Given the description of an element on the screen output the (x, y) to click on. 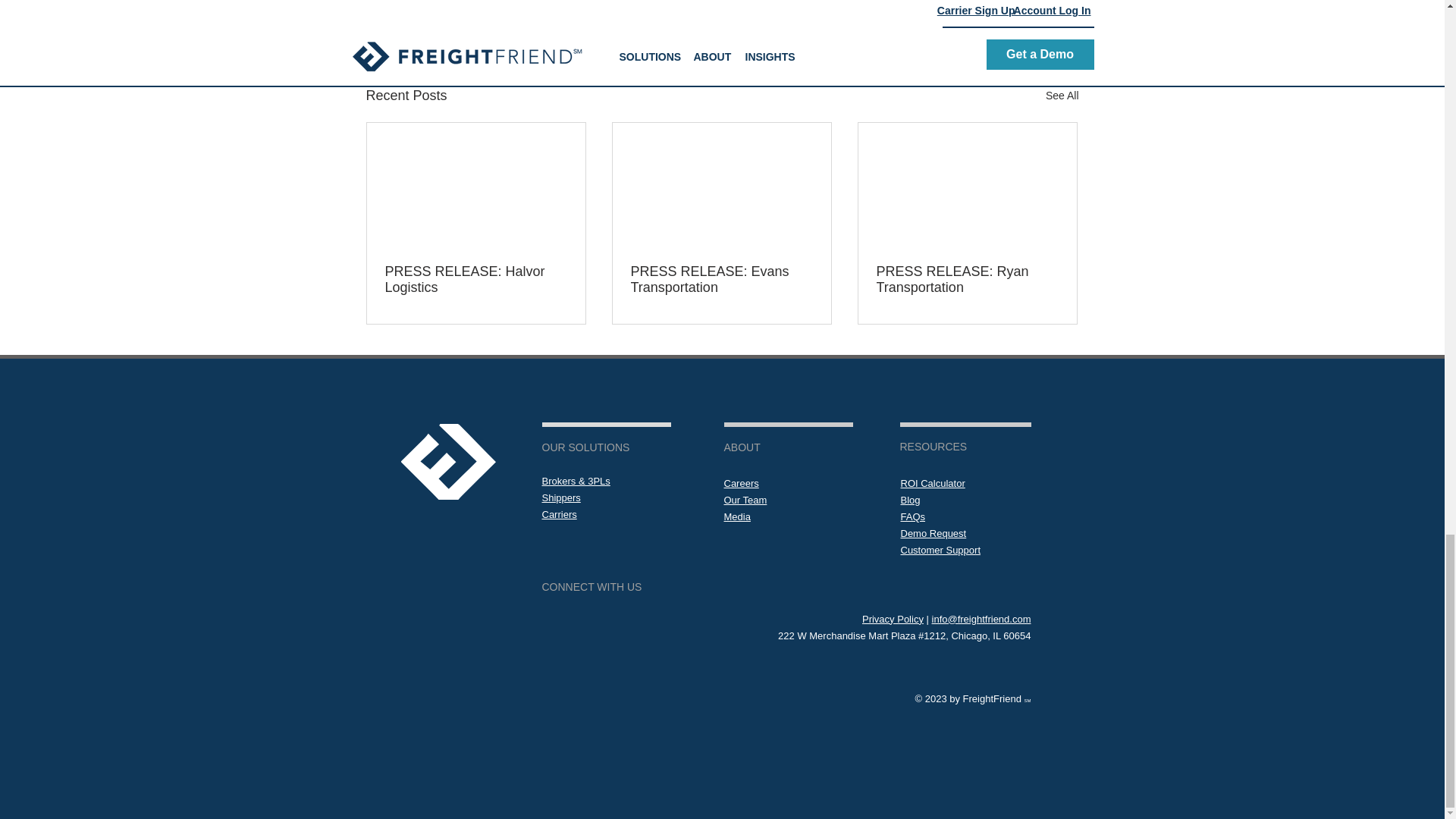
Careers (740, 482)
PRESS RELEASE: Evans Transportation (721, 279)
See All (1061, 96)
Carriers (558, 514)
Our Team (745, 500)
PRESS RELEASE: Halvor Logistics (476, 279)
Media (736, 516)
PRESS RELEASE: Ryan Transportation (967, 279)
Shippers (560, 497)
